Given the description of an element on the screen output the (x, y) to click on. 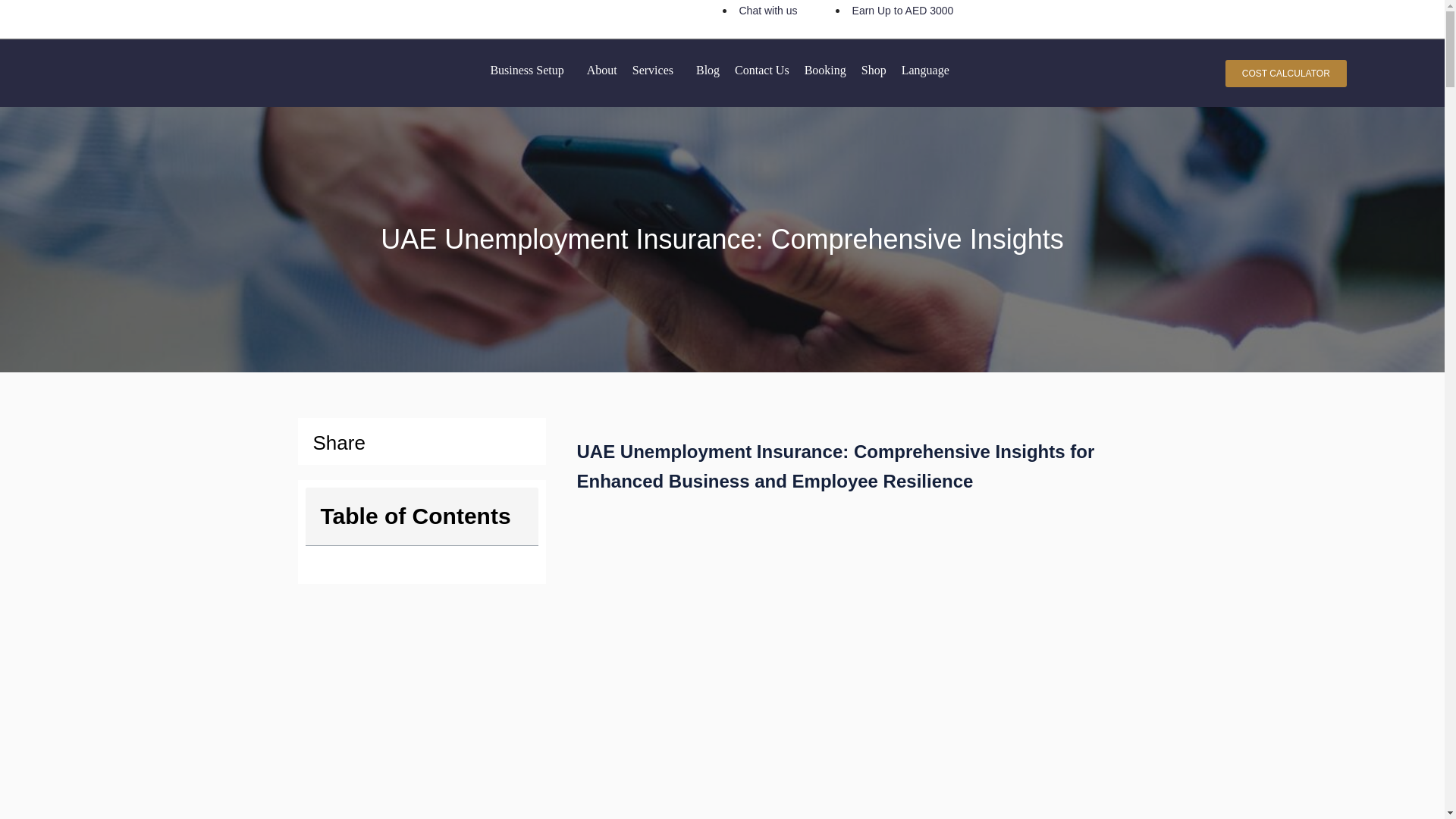
About (601, 70)
Business Setup (529, 70)
Blog (707, 70)
Language (928, 70)
Earn Up to AED 3000 (902, 10)
Services (656, 70)
Contact Us (761, 70)
Chat with us (767, 10)
Booking (824, 70)
COST CALCULATOR (1285, 72)
Shop (873, 70)
